Given the description of an element on the screen output the (x, y) to click on. 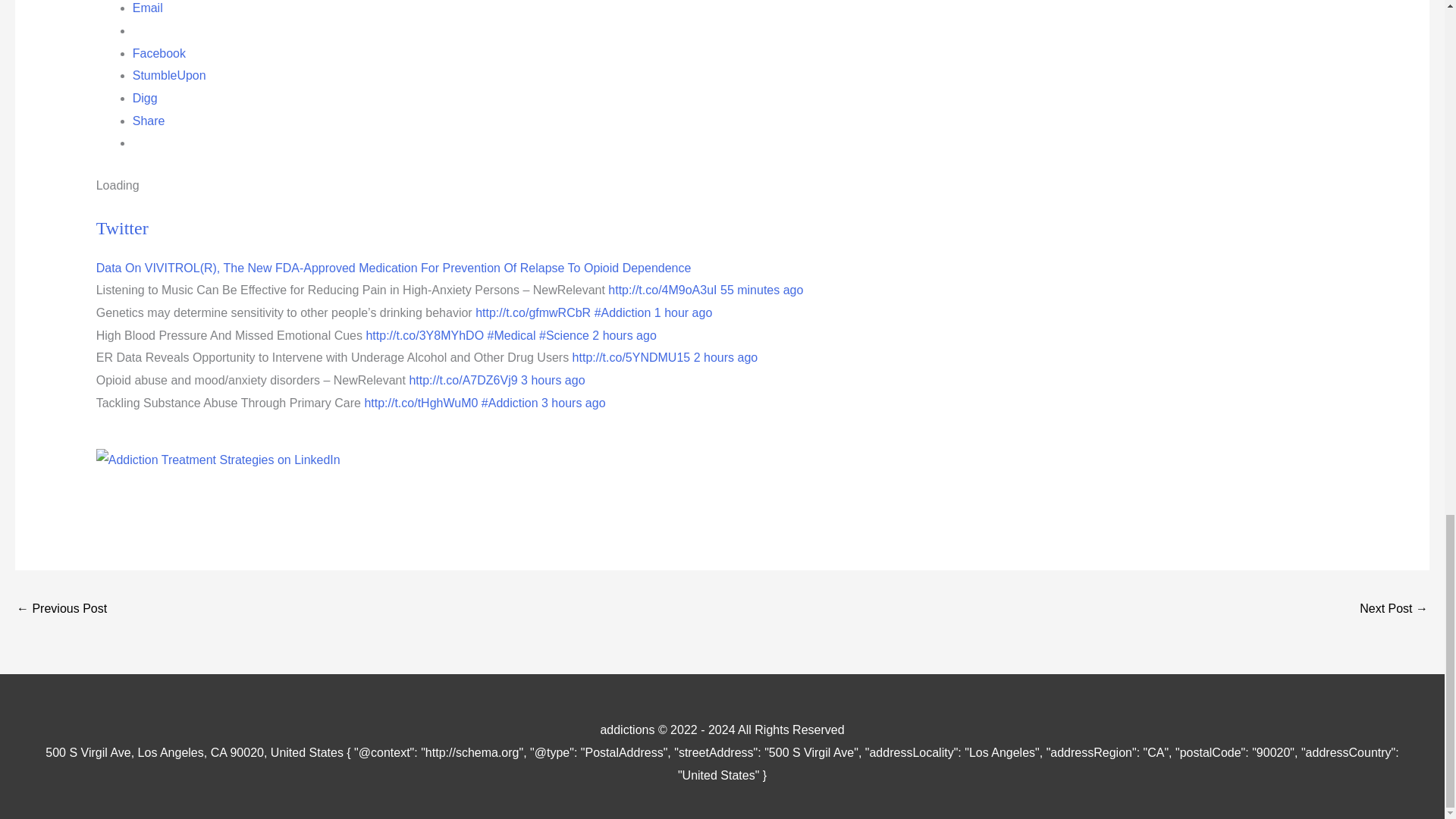
Click to share on StumbleUpon (169, 74)
Click to email this to a friend (147, 7)
Click to Digg this post (144, 97)
Share on Facebook (159, 52)
